Given the description of an element on the screen output the (x, y) to click on. 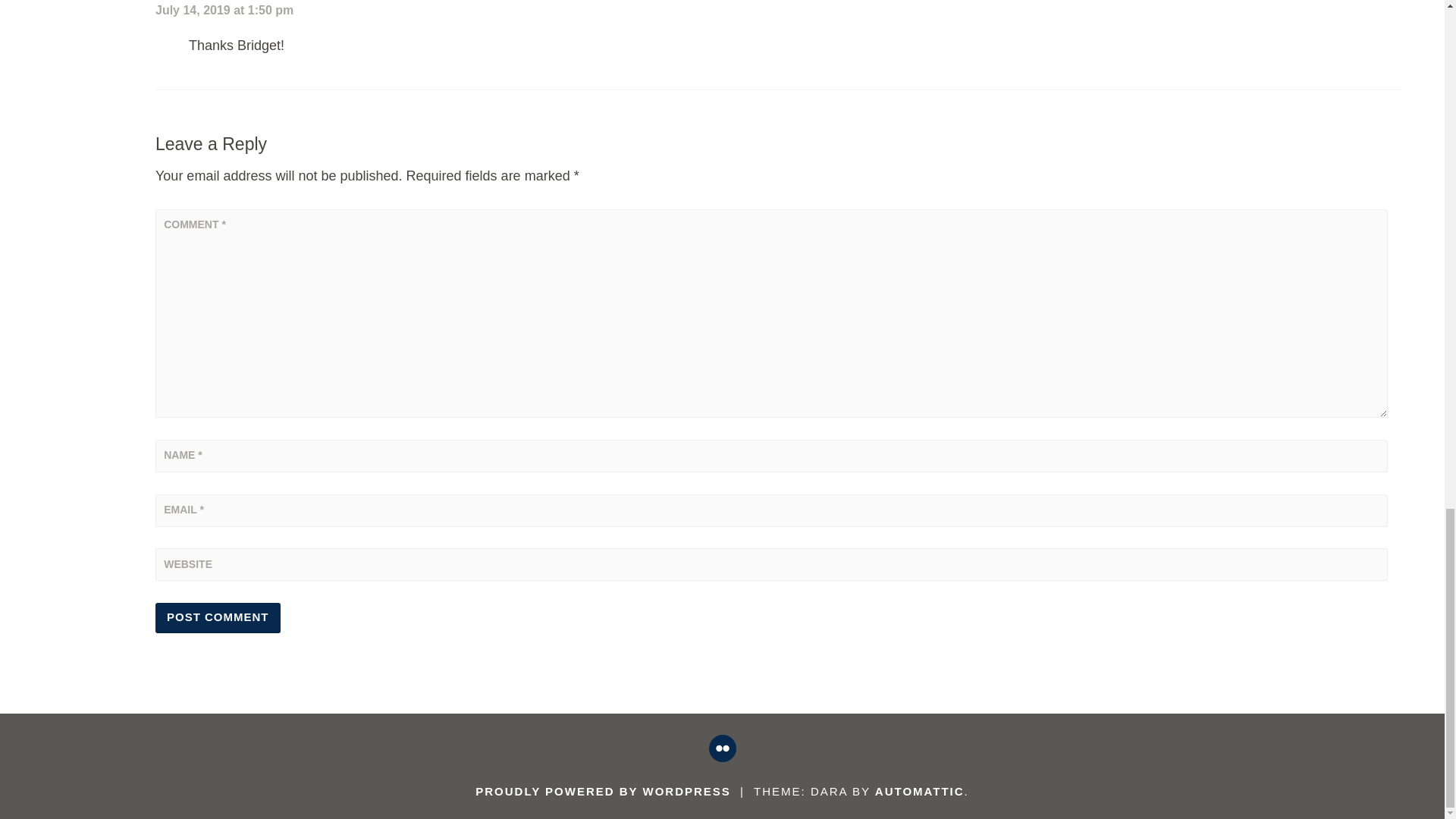
Post Comment (218, 617)
